Given the description of an element on the screen output the (x, y) to click on. 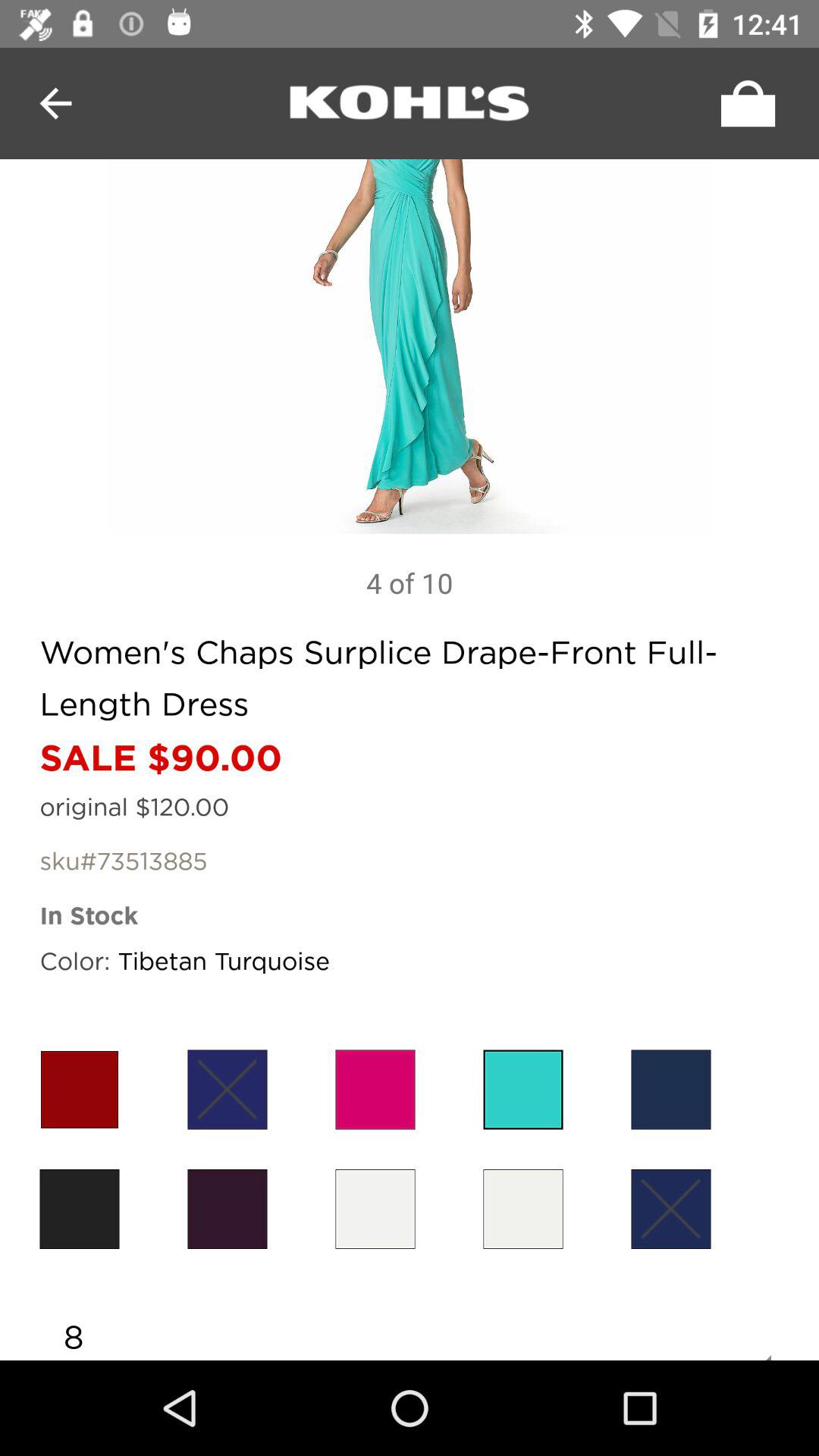
go home (409, 103)
